Given the description of an element on the screen output the (x, y) to click on. 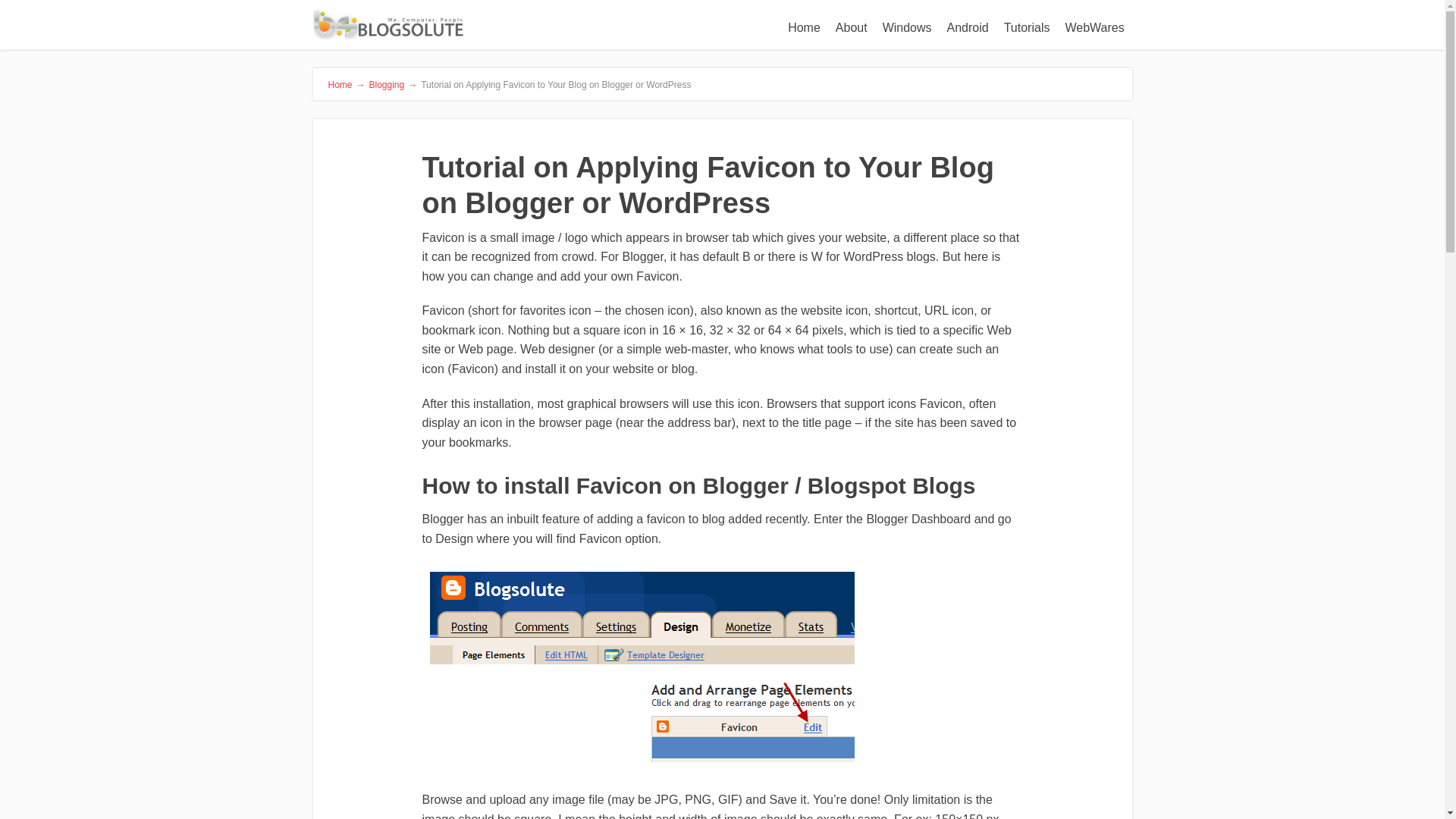
Home (804, 27)
Tutorials (1026, 27)
Windows (907, 27)
About (851, 27)
WebWares (1094, 27)
Android (967, 27)
About (851, 27)
blogger favicon (641, 666)
